Given the description of an element on the screen output the (x, y) to click on. 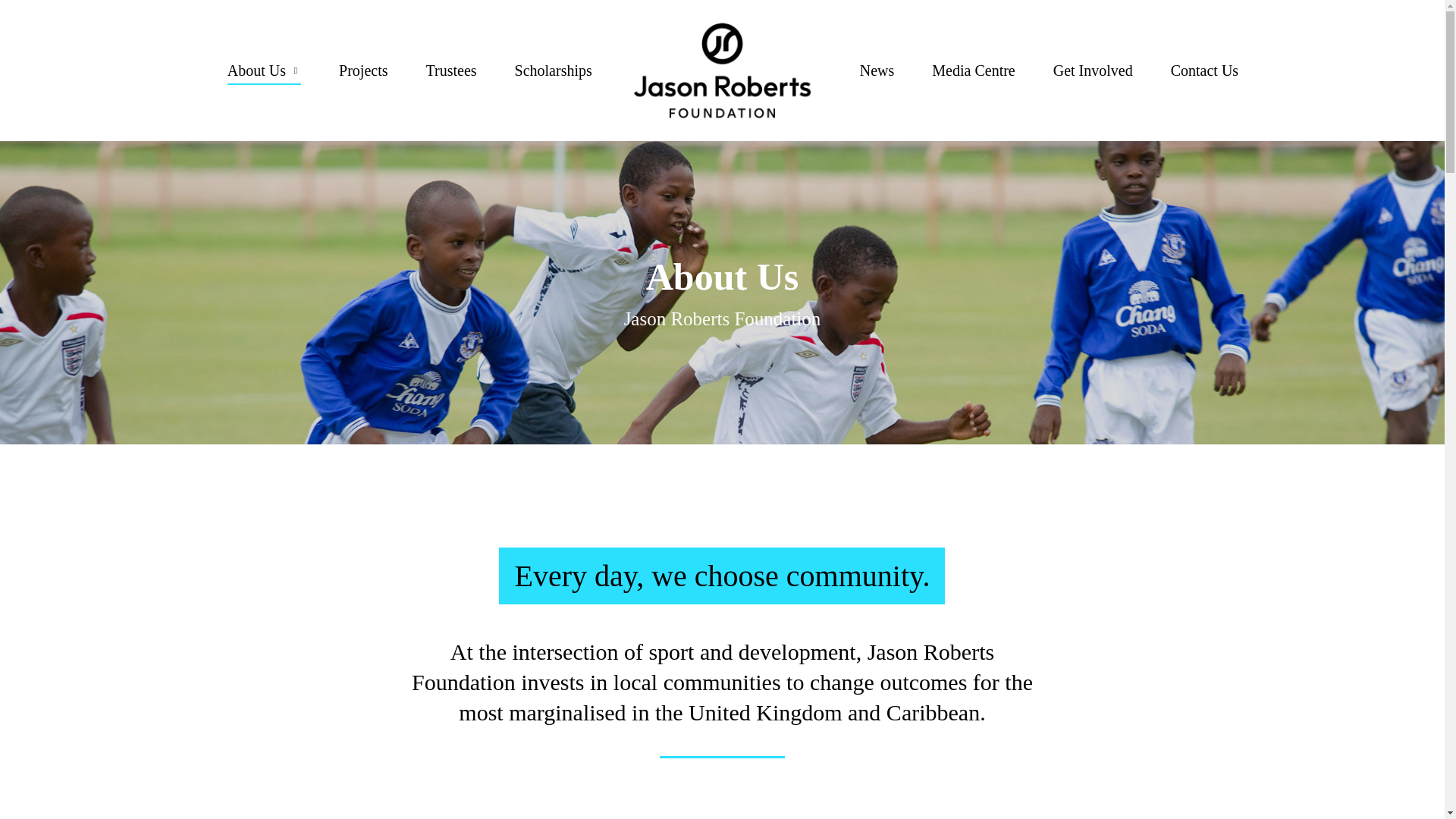
News (877, 69)
About Us (264, 69)
Contact Us (1204, 69)
Trustees (451, 69)
Media Centre (972, 69)
Get Involved (1092, 69)
Scholarships (553, 69)
Projects (363, 69)
